Given the description of an element on the screen output the (x, y) to click on. 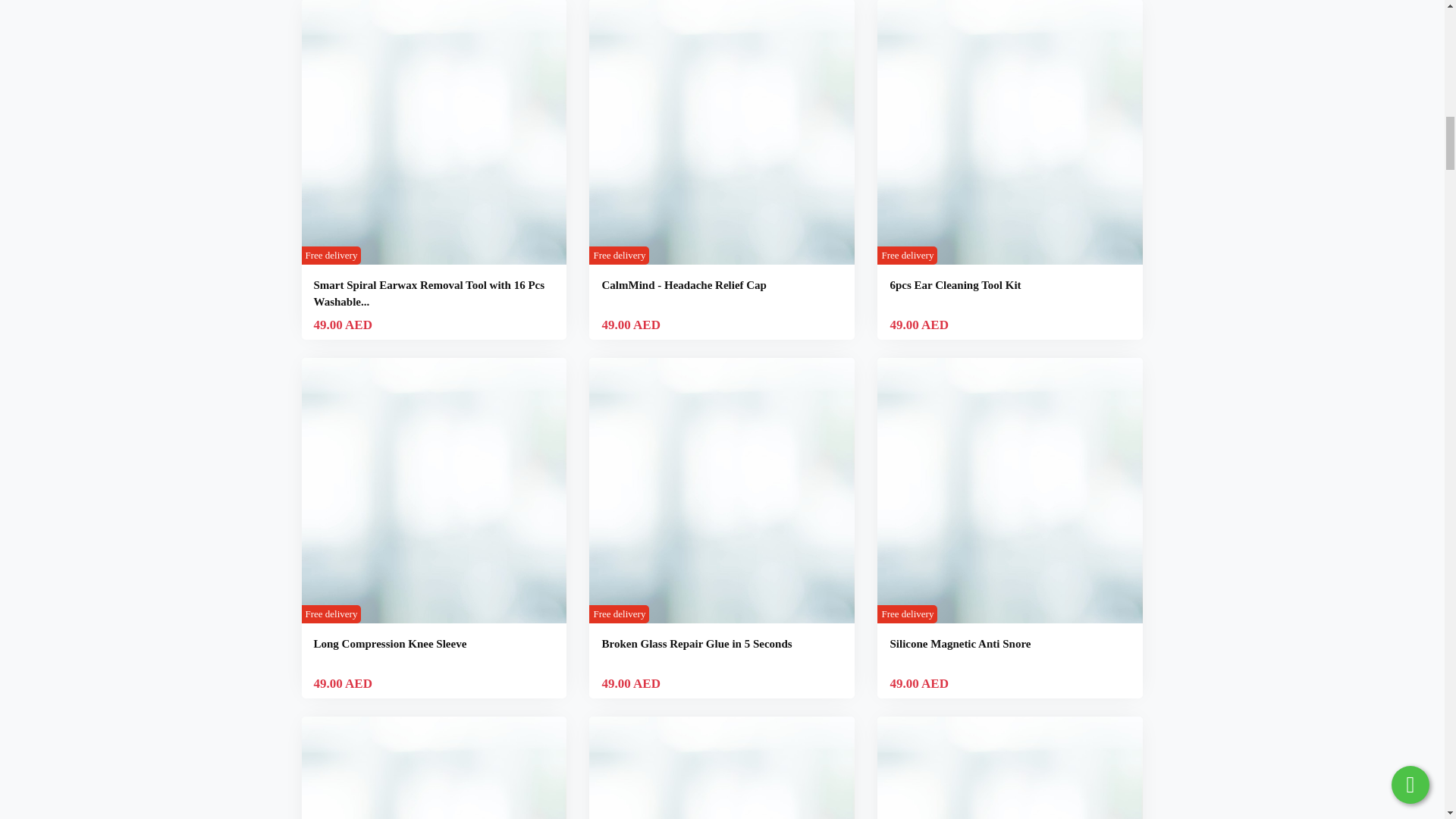
Smart Spiral Earwax Removal Tool with 16 Pcs Washable... (429, 293)
